Given the description of an element on the screen output the (x, y) to click on. 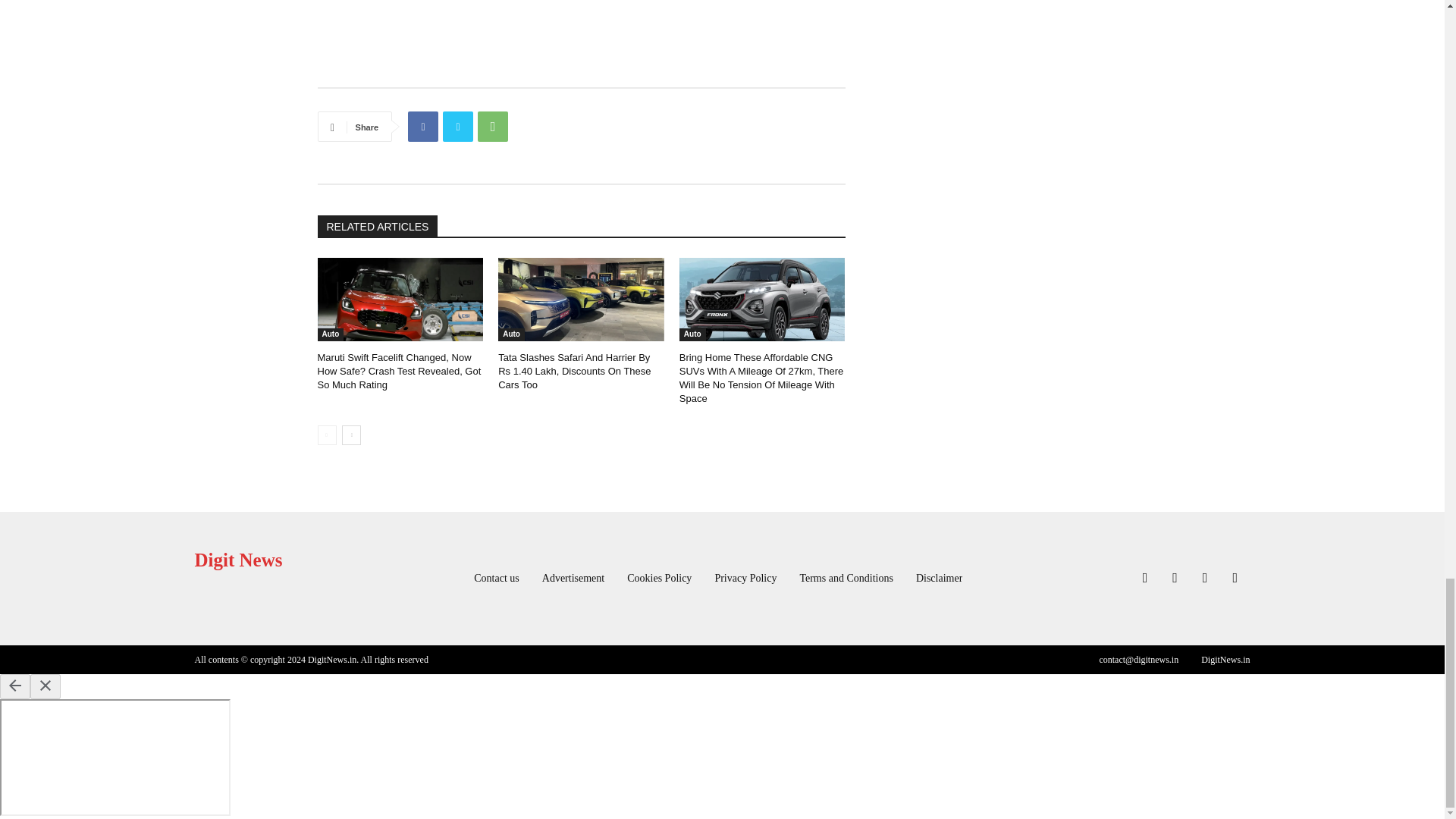
Auto (330, 334)
